Given the description of an element on the screen output the (x, y) to click on. 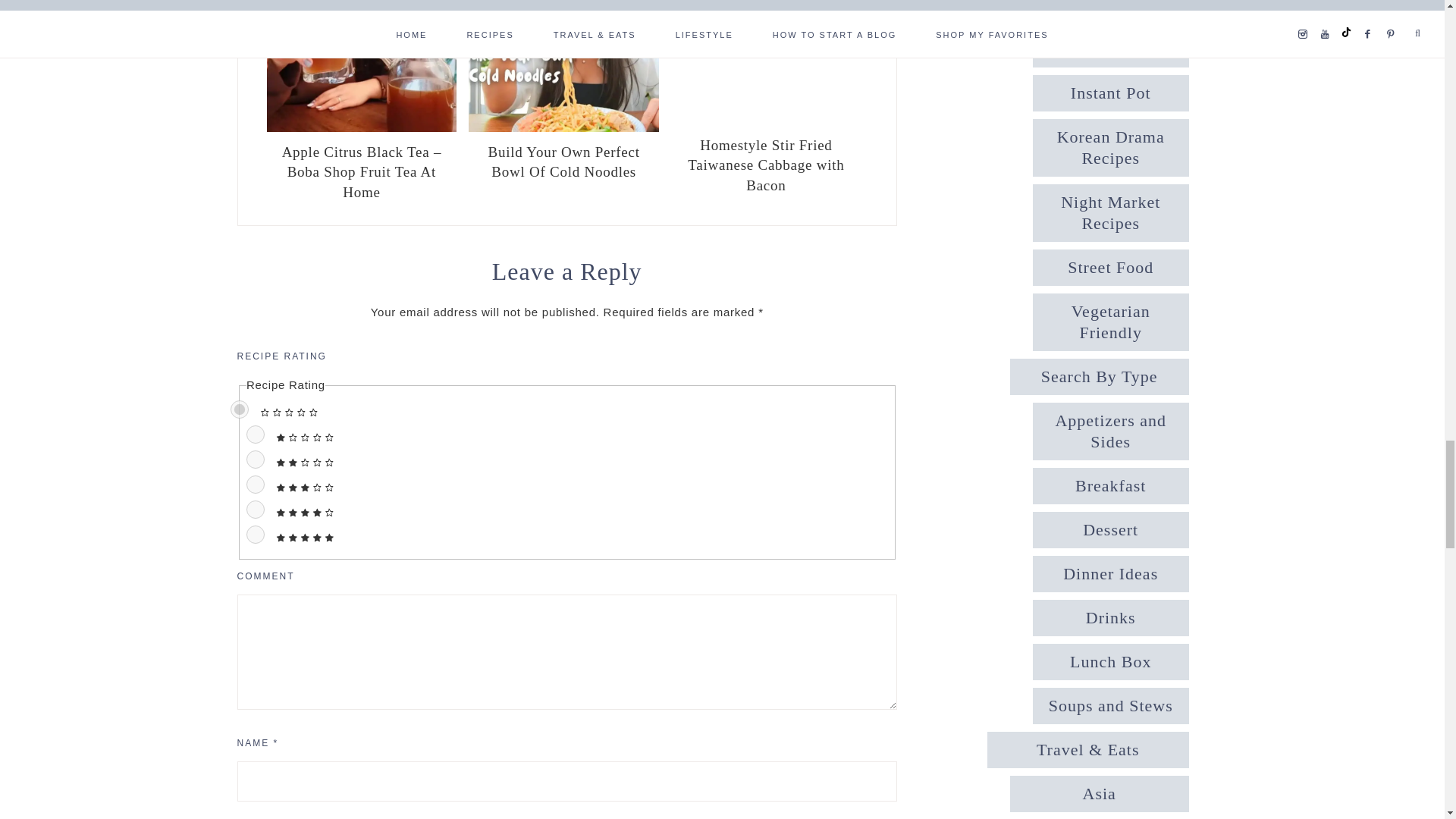
0 (239, 409)
3 (255, 484)
5 (255, 534)
4 (255, 509)
2 (255, 459)
1 (255, 434)
